Given the description of an element on the screen output the (x, y) to click on. 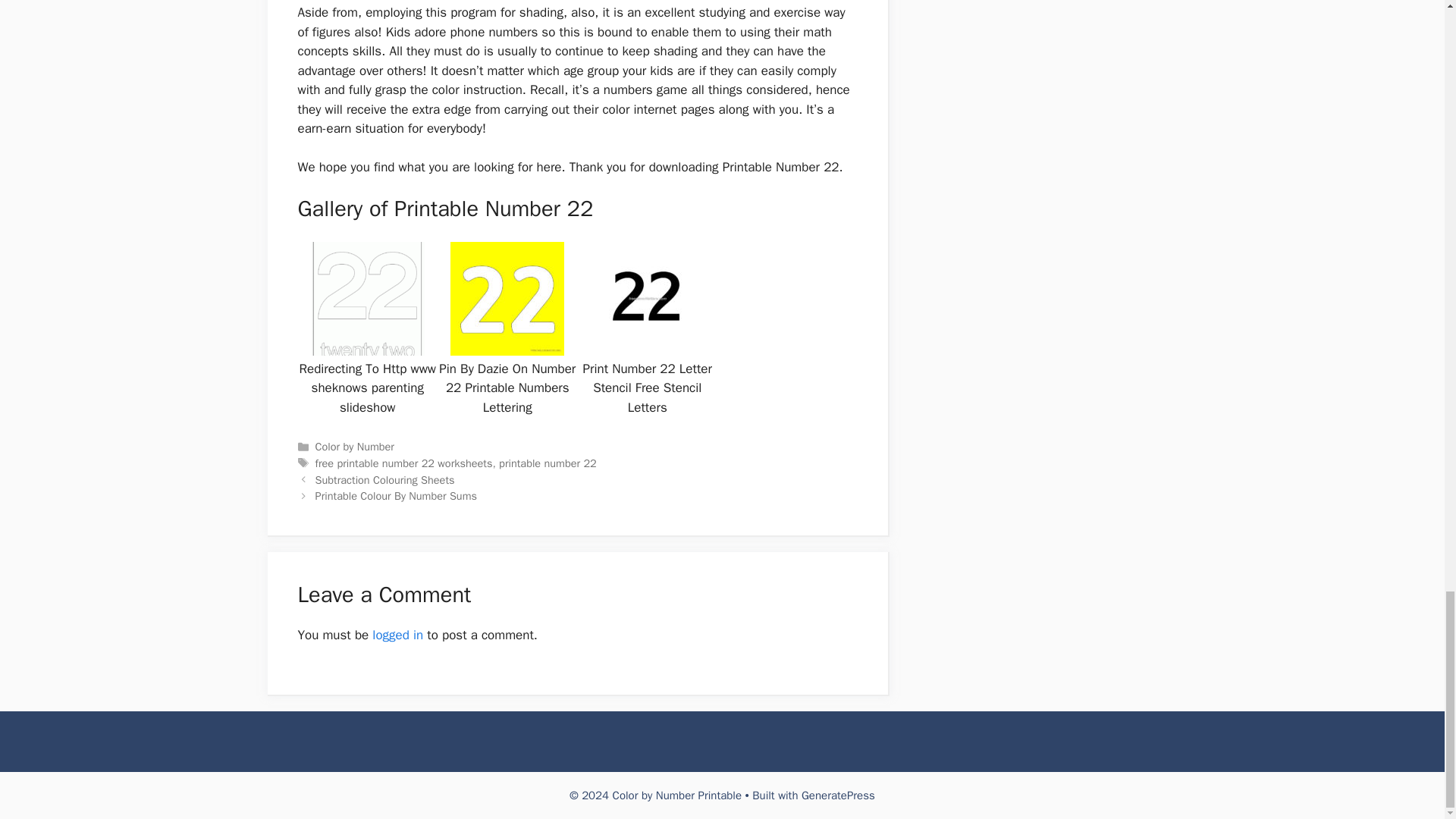
logged in (397, 634)
Color by Number (354, 446)
printable number 22 (547, 463)
free printable number 22 worksheets (404, 463)
Subtraction Colouring Sheets (384, 479)
Printable Colour By Number Sums (396, 495)
Previous (384, 479)
GeneratePress (838, 795)
Next (396, 495)
